Given the description of an element on the screen output the (x, y) to click on. 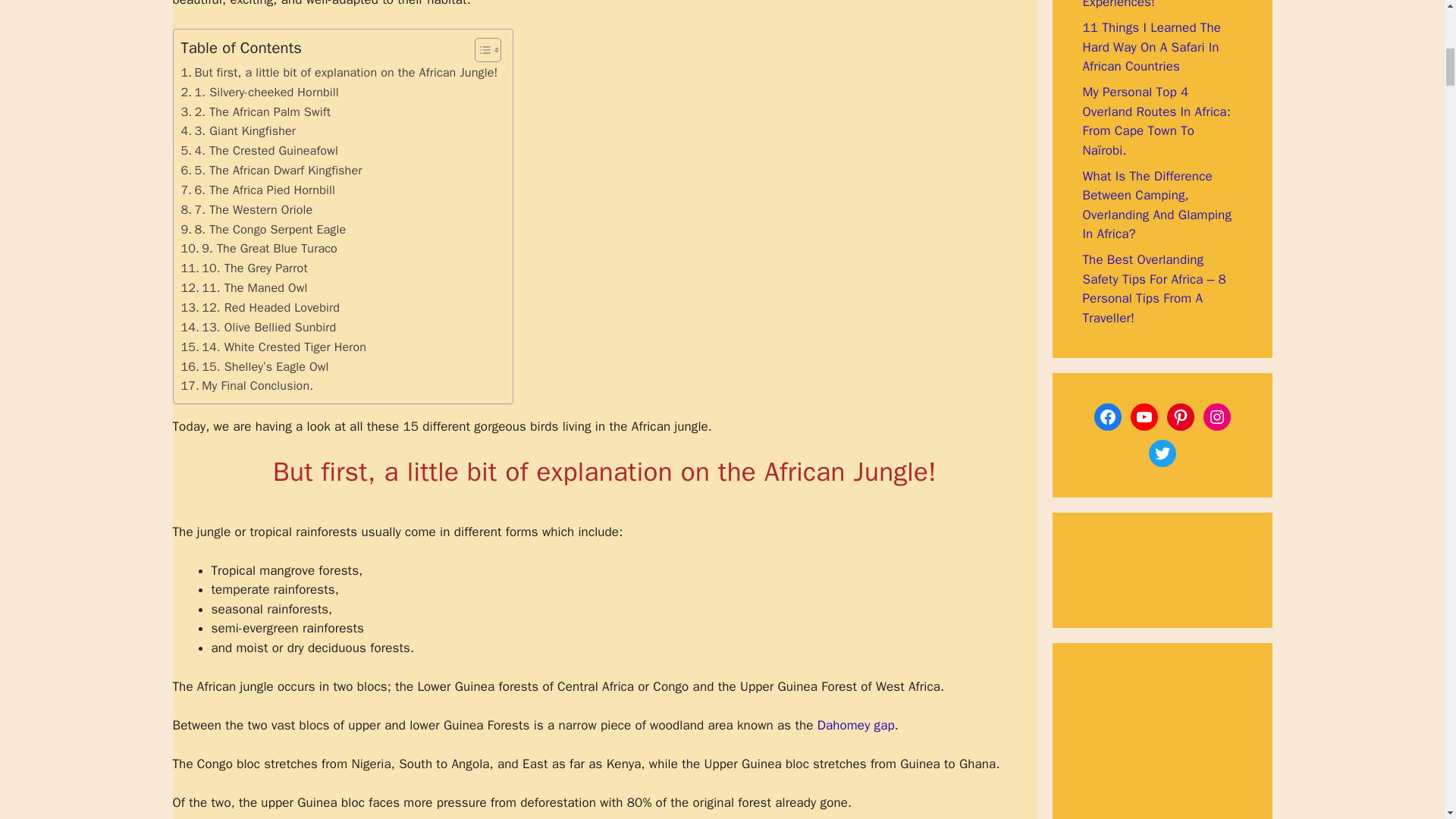
9. The Great Blue Turaco (258, 248)
8. The Congo Serpent Eagle (263, 229)
11. The Maned Owl (243, 288)
3. Giant Kingfisher (237, 130)
7. The Western Oriole (246, 209)
10. The Grey Parrot (243, 268)
13. Olive Bellied Sunbird (258, 327)
2. The African Palm Swift (255, 112)
12. Red Headed Lovebird (259, 307)
4. The Crested Guineafowl (258, 150)
1. Silvery-cheeked Hornbill (258, 92)
5. The African Dwarf Kingfisher (270, 170)
6. The Africa Pied Hornbill (257, 189)
